Given the description of an element on the screen output the (x, y) to click on. 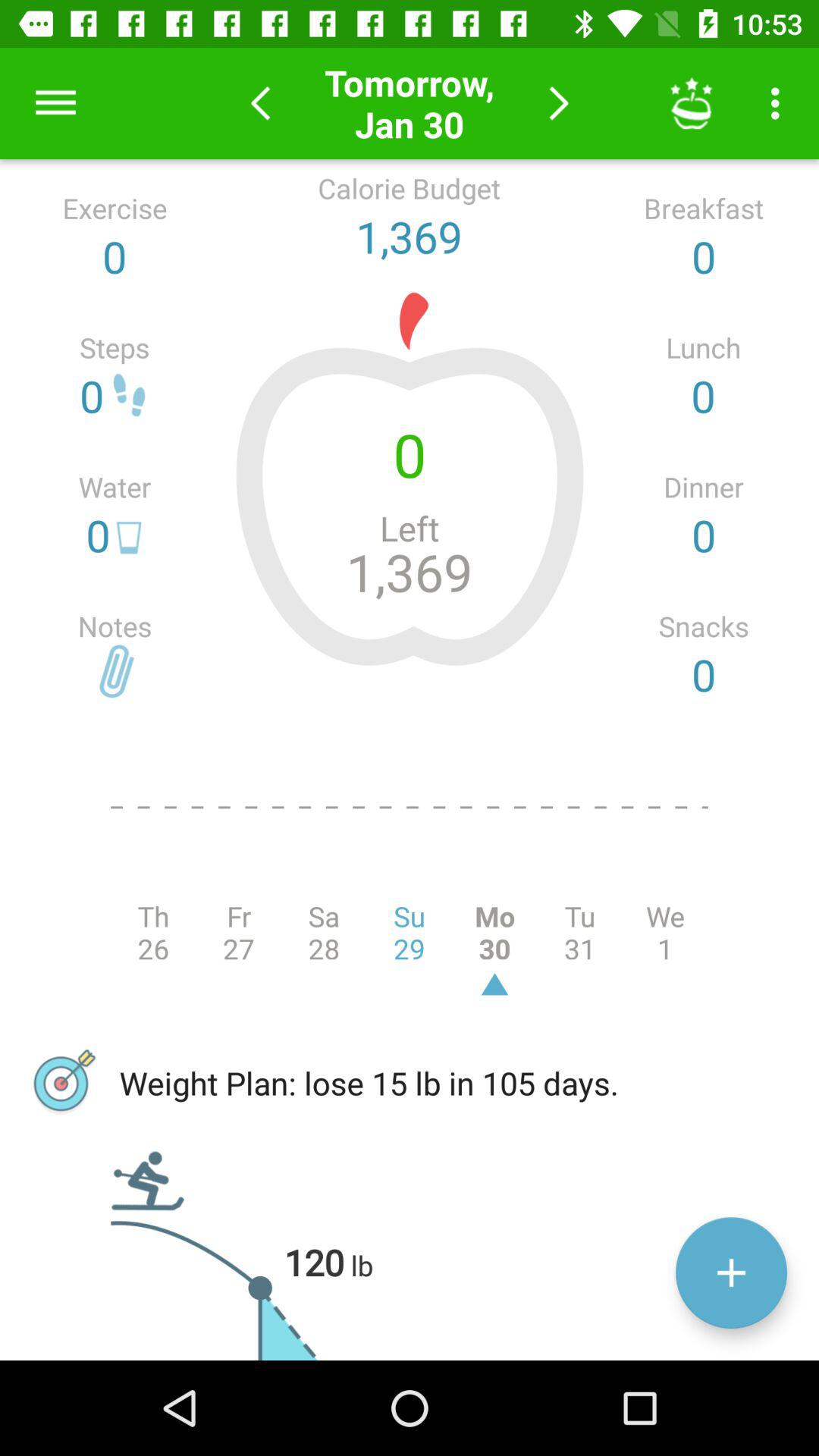
add calories to the budget (731, 1272)
